Given the description of an element on the screen output the (x, y) to click on. 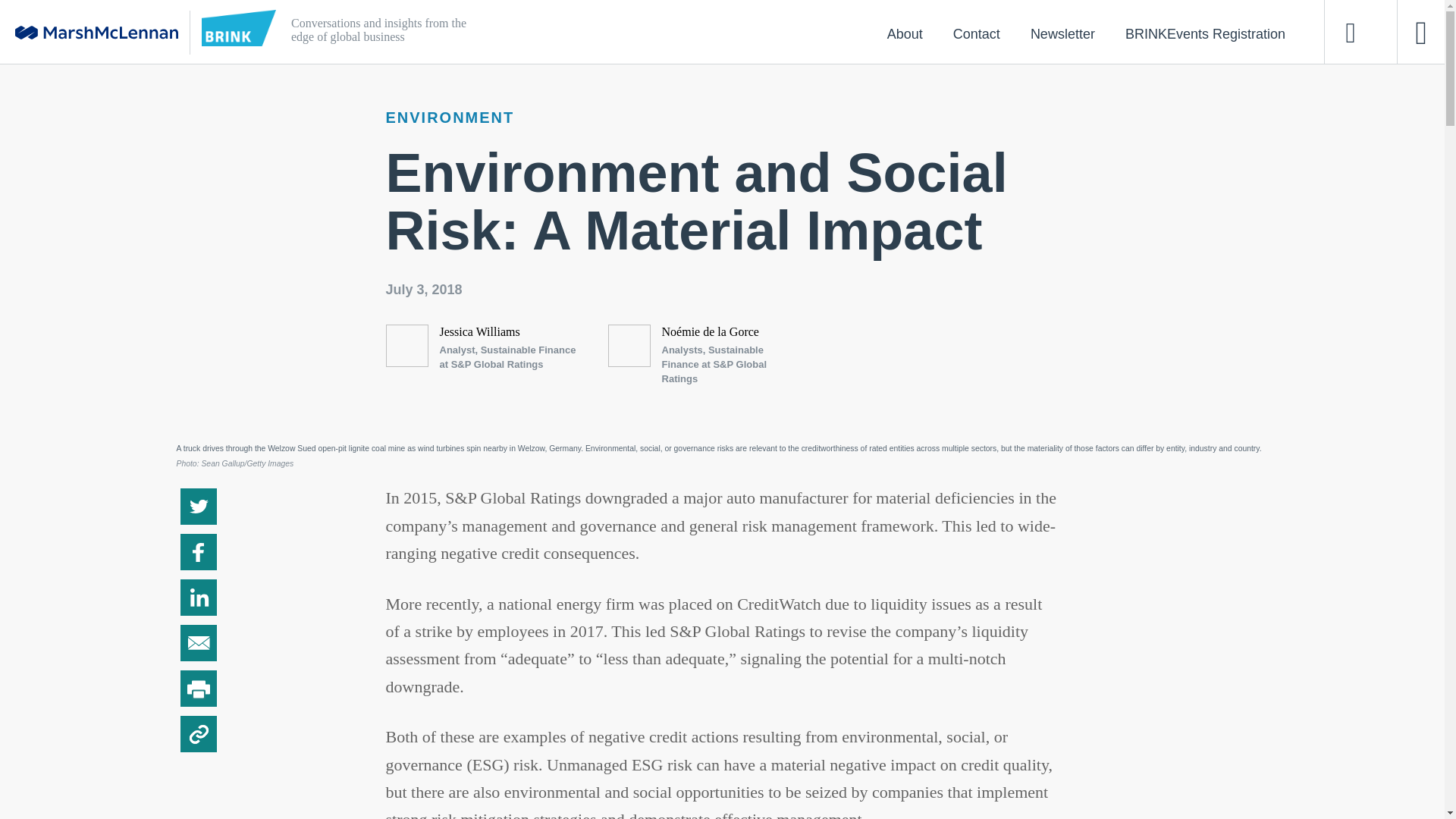
Conversations and insights from the edge of global business (653, 32)
ENVIRONMENT (449, 117)
Newsletter (1061, 33)
BRINKEvents Registration (1204, 33)
Jessica Williams (479, 331)
About (904, 33)
Contact (975, 33)
